Given the description of an element on the screen output the (x, y) to click on. 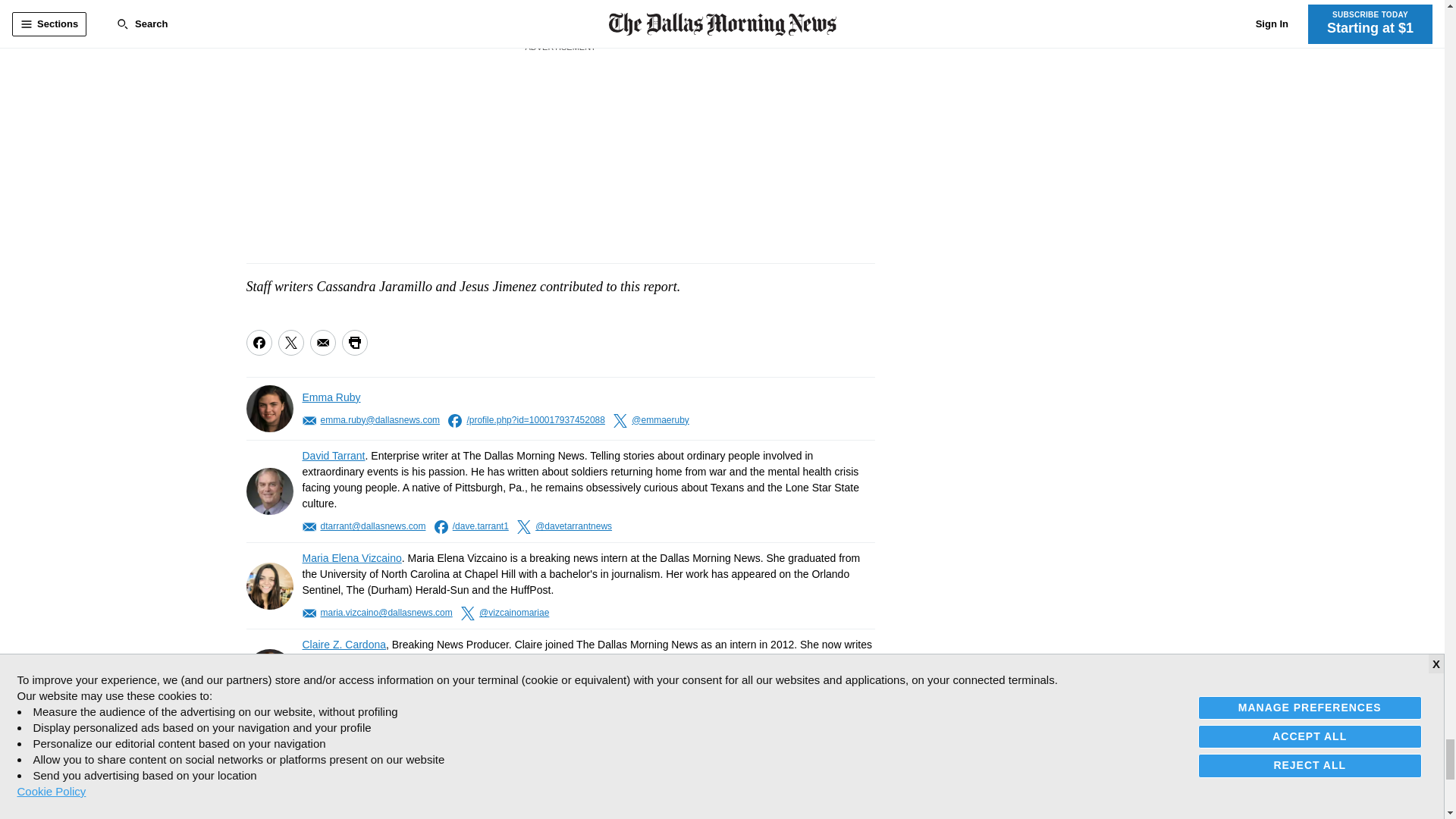
Share on Twitter (290, 342)
Share via Email (321, 342)
Print (353, 342)
Share on Facebook (258, 342)
